Given the description of an element on the screen output the (x, y) to click on. 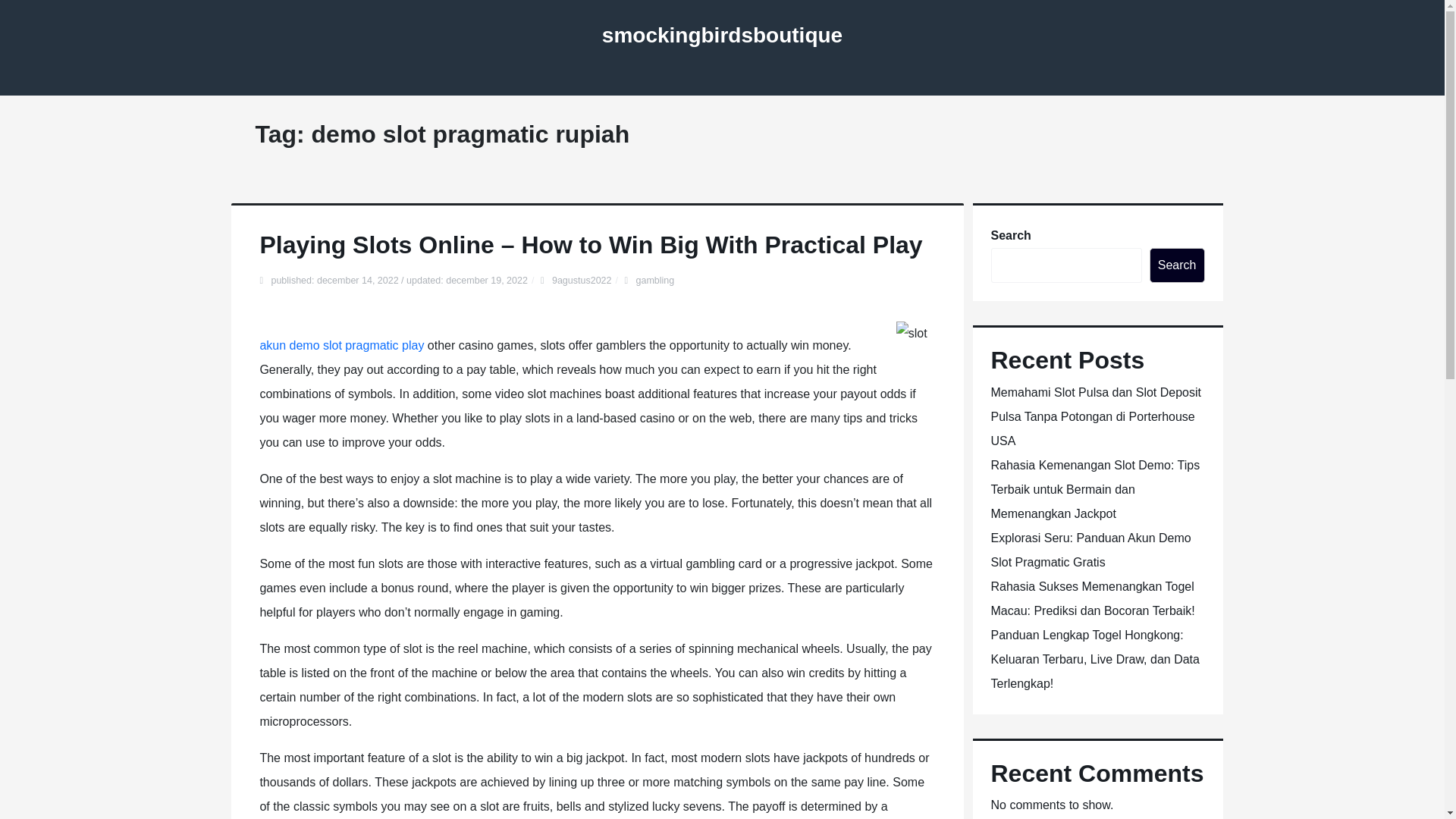
gambling (655, 280)
akun demo slot pragmatic play (341, 345)
smockingbirdsboutique (722, 34)
Search (1177, 265)
9agustus2022 (581, 280)
